Given the description of an element on the screen output the (x, y) to click on. 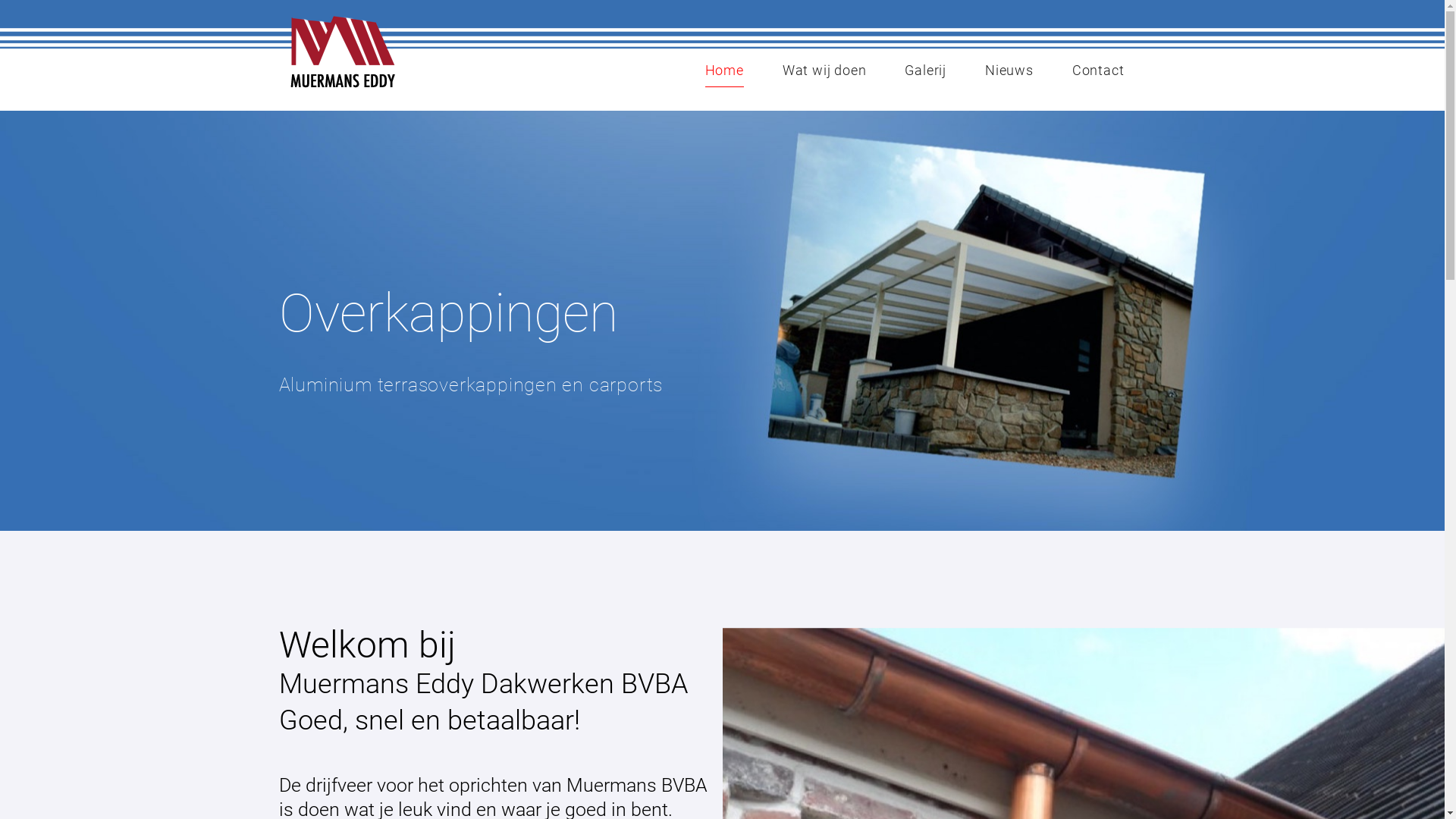
Nieuws Element type: text (1009, 70)
Contact Element type: text (1098, 70)
Wat wij doen Element type: text (824, 70)
Home Element type: text (724, 70)
Galerij Element type: text (925, 70)
